Given the description of an element on the screen output the (x, y) to click on. 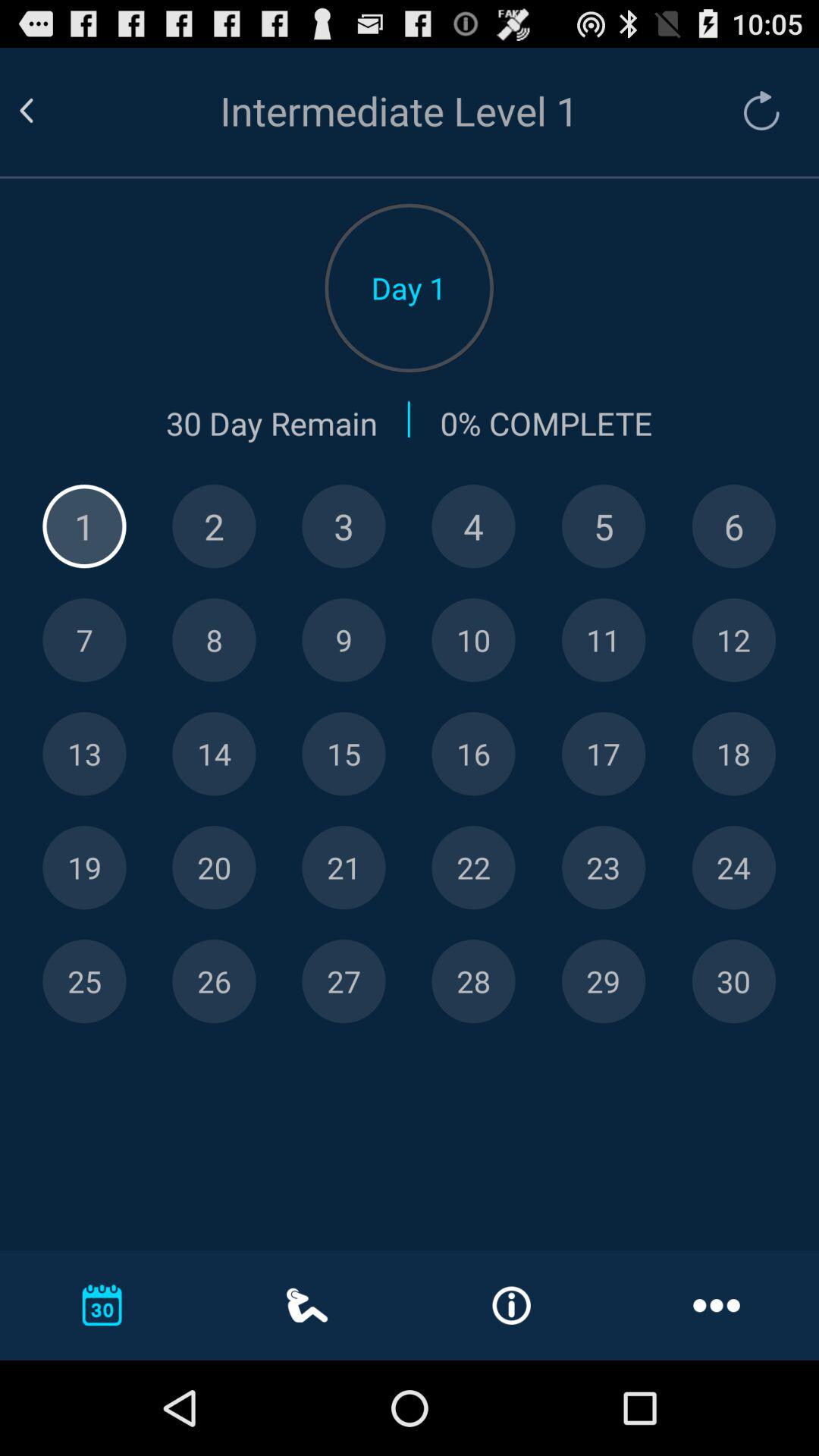
selects the number (213, 867)
